Given the description of an element on the screen output the (x, y) to click on. 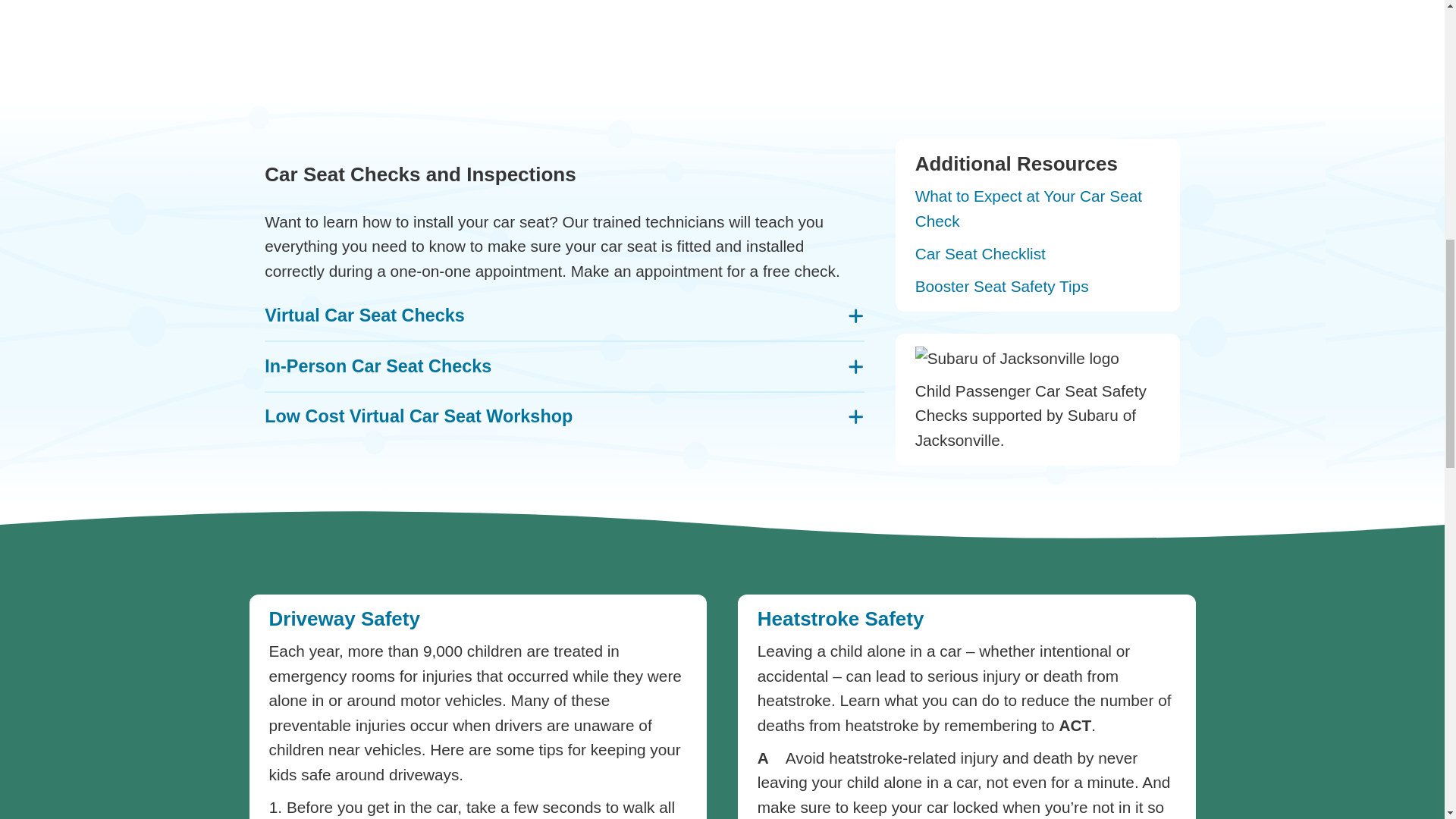
What to Expect at Your Car Seat Check (1028, 208)
Virtual Car Seat Checks (564, 315)
In-Person Car Seat Checks (564, 366)
Car Seat Checklist (980, 253)
Low Cost Virtual Car Seat Workshop (564, 416)
Booster Seat Safety Tips (1002, 285)
